Given the description of an element on the screen output the (x, y) to click on. 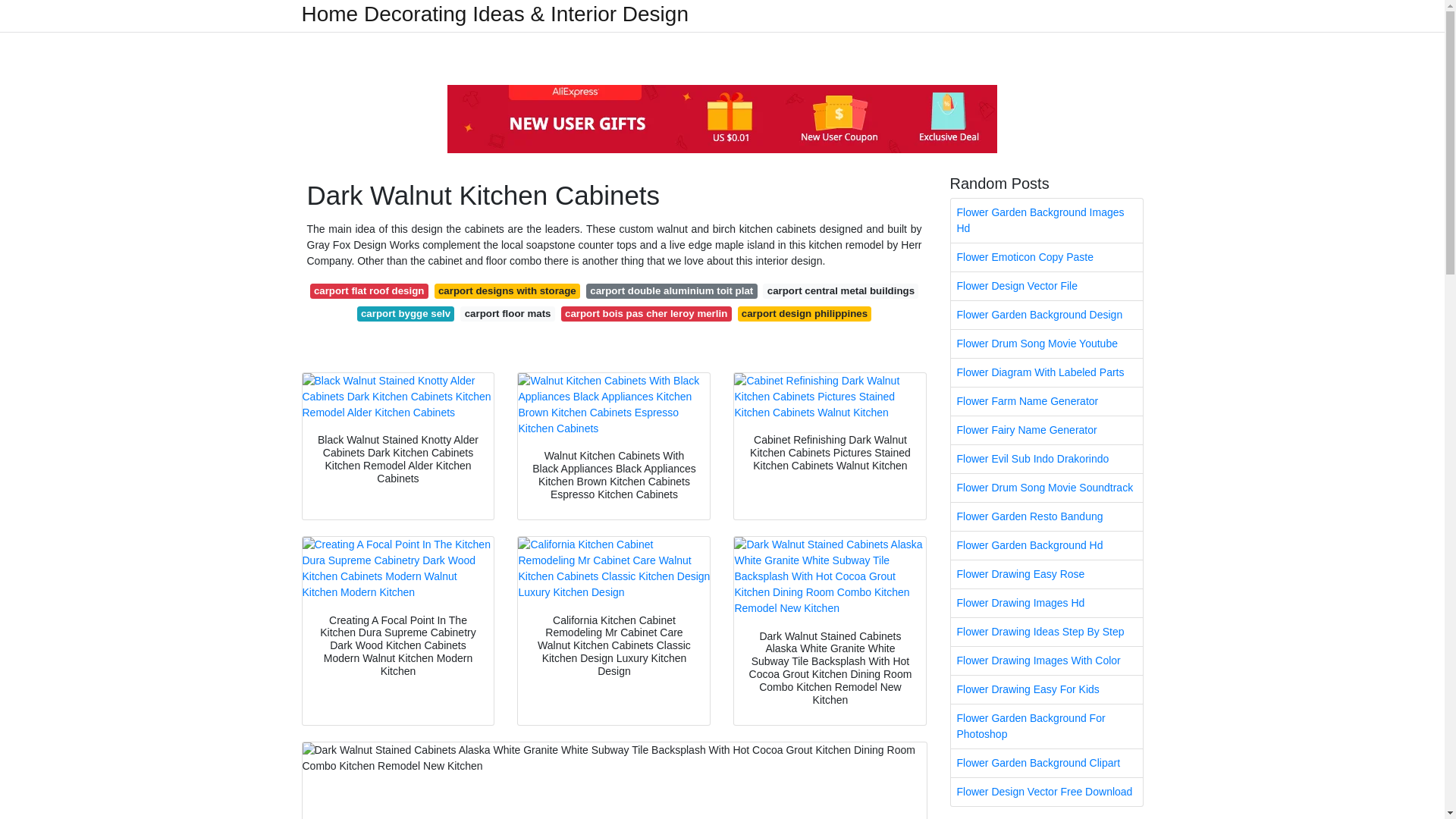
carport designs with storage (506, 290)
Flower Farm Name Generator (1046, 401)
carport central metal buildings (840, 290)
Flower Garden Background Design (1046, 315)
Flower Evil Sub Indo Drakorindo (1046, 459)
Flower Diagram With Labeled Parts (1046, 372)
Flower Design Vector File (1046, 285)
carport double aluminium toit plat (671, 290)
carport floor mats (507, 313)
carport flat roof design (369, 290)
